Given the description of an element on the screen output the (x, y) to click on. 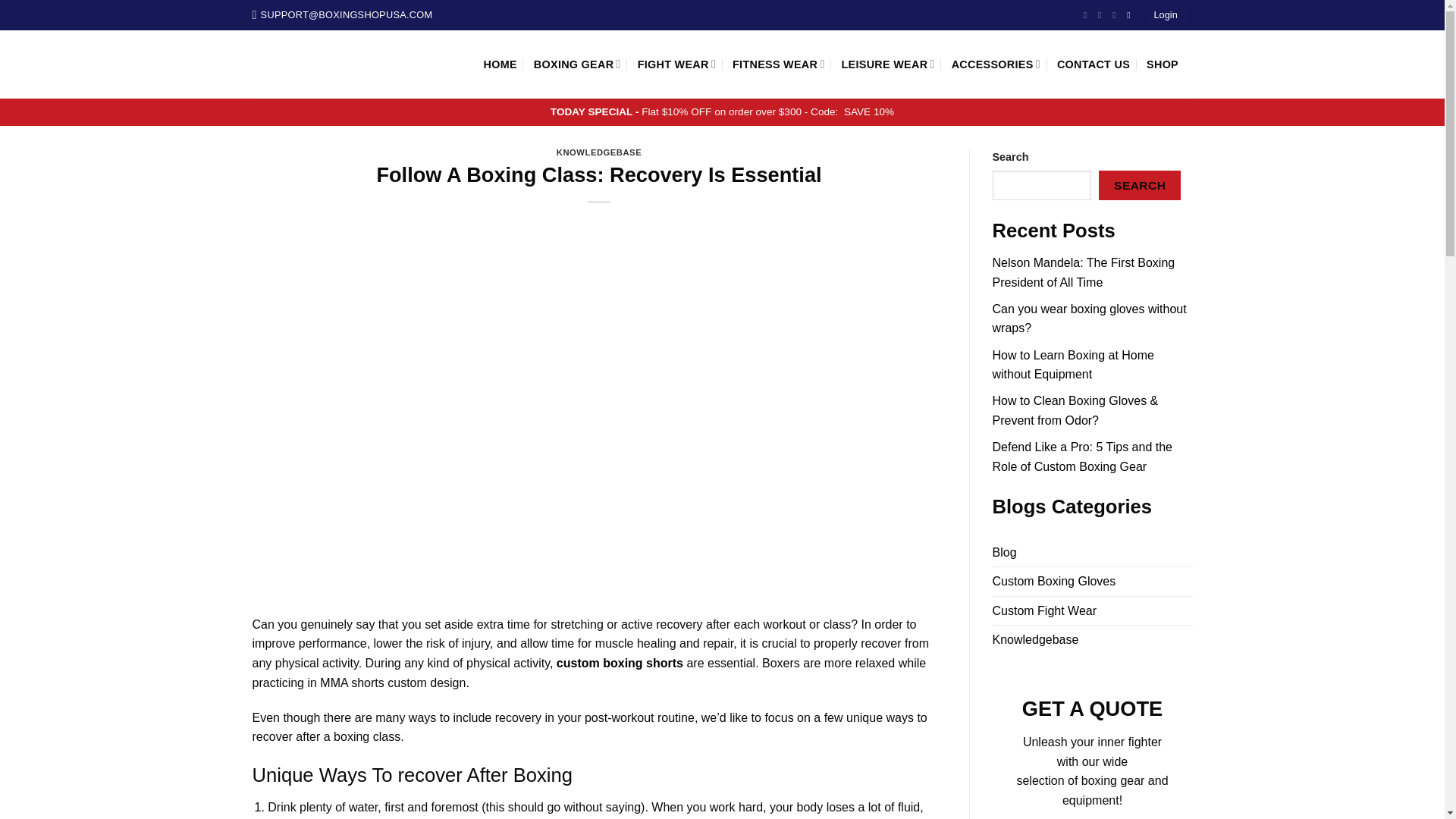
Boxing Shop USA (355, 64)
BOXING GEAR (577, 64)
Login (1164, 14)
